Given the description of an element on the screen output the (x, y) to click on. 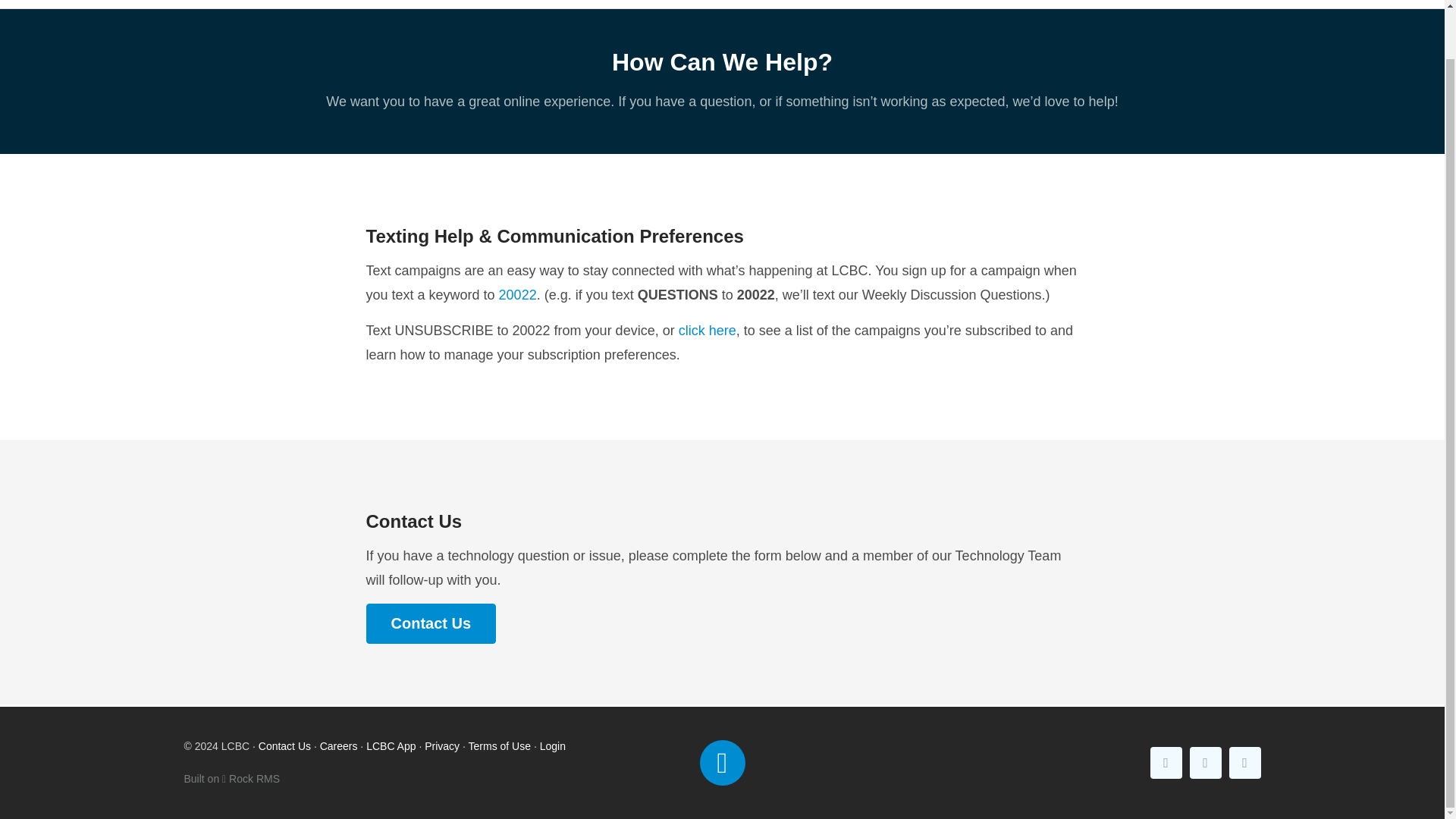
Give (1307, 4)
About (832, 4)
Next Steps (1087, 4)
